Given the description of an element on the screen output the (x, y) to click on. 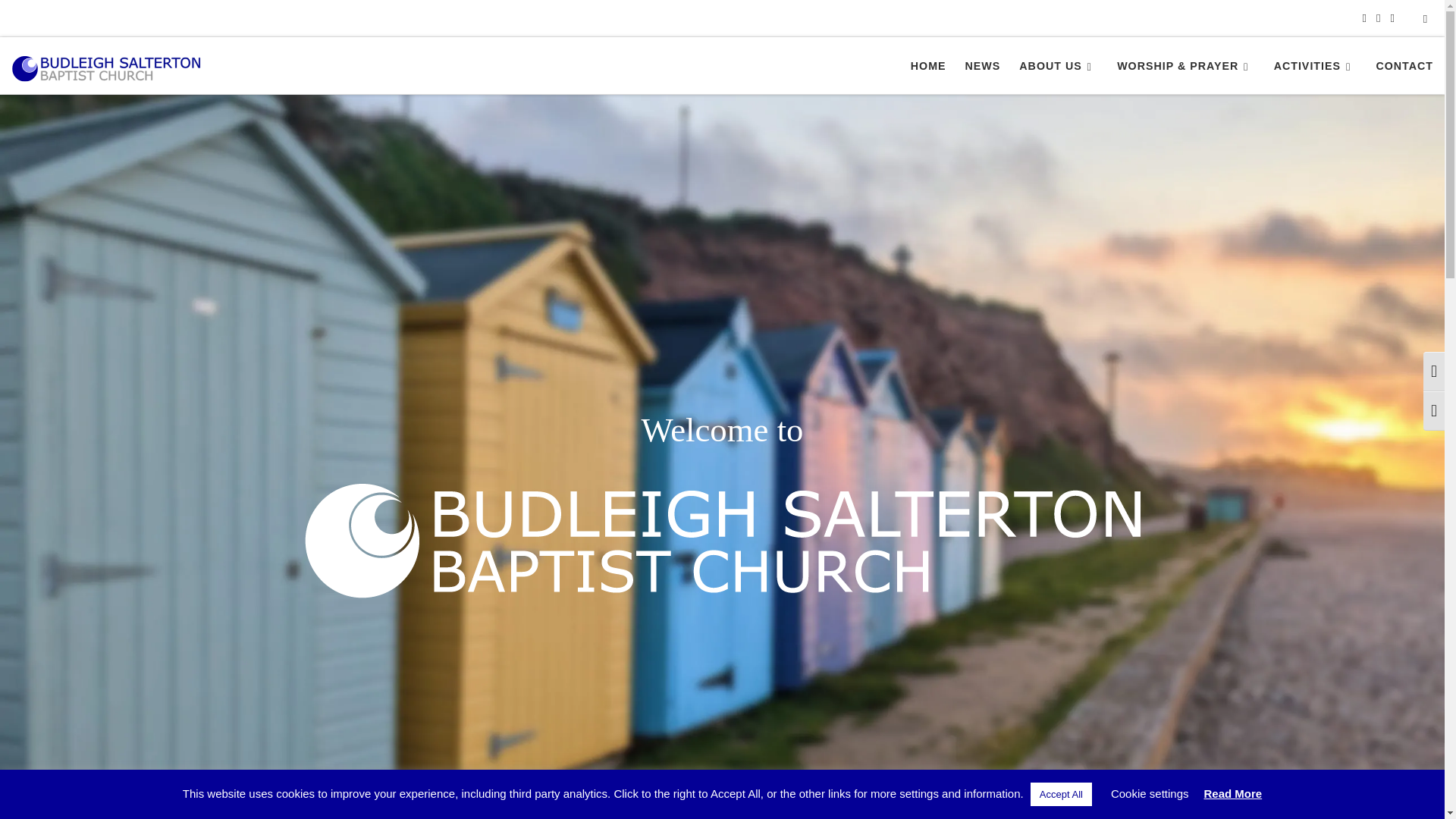
Skip to content (60, 20)
HOME (927, 65)
ACTIVITIES (1314, 65)
NEWS (981, 65)
ABOUT US (1058, 65)
CONTACT (1404, 65)
